Given the description of an element on the screen output the (x, y) to click on. 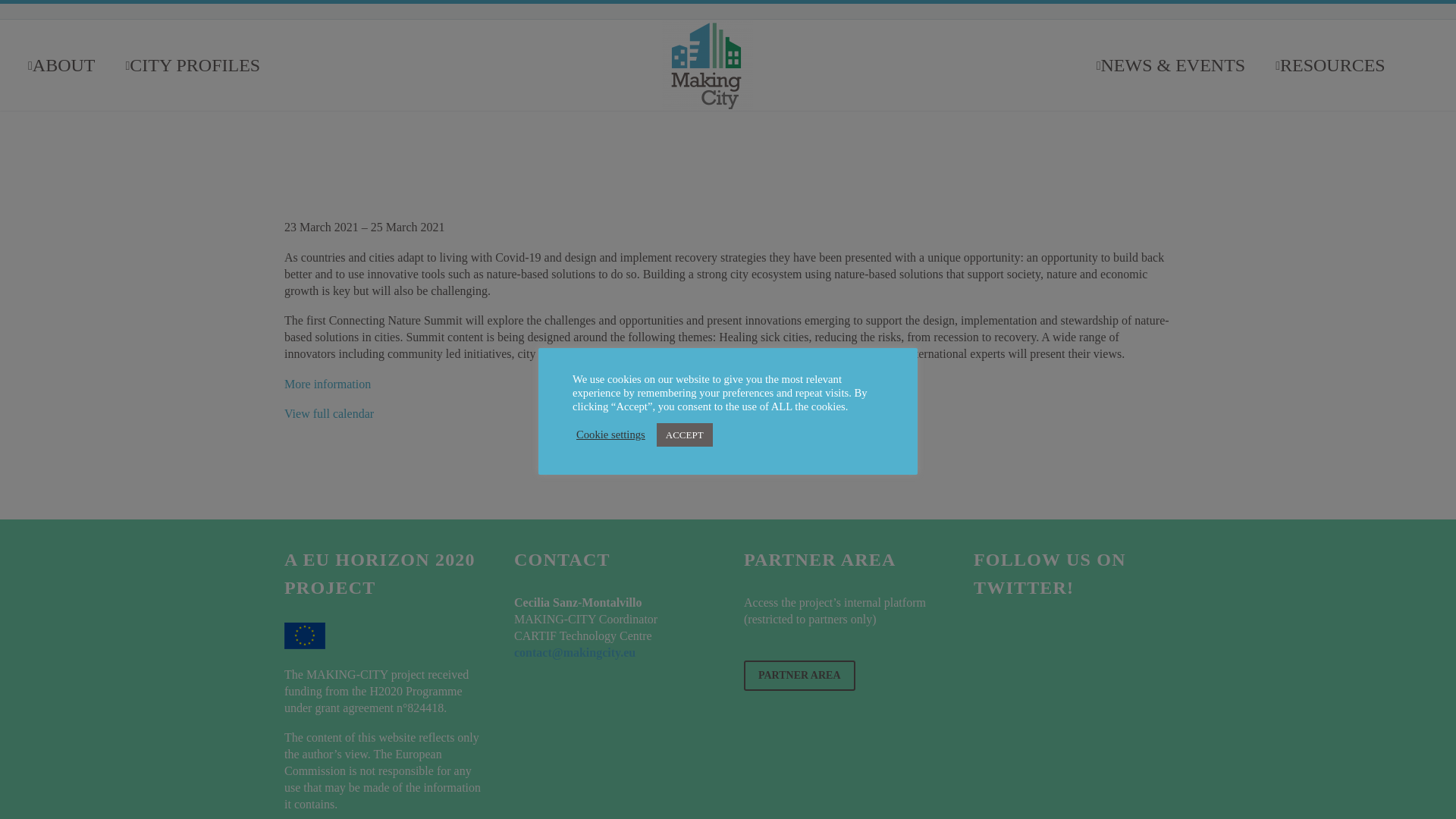
Resources (1330, 64)
PARTNER AREA (800, 675)
CITY PROFILES (193, 64)
ABOUT (61, 64)
RESOURCES (1330, 64)
More information (327, 383)
Partner area (800, 675)
View full calendar (328, 413)
